Given the description of an element on the screen output the (x, y) to click on. 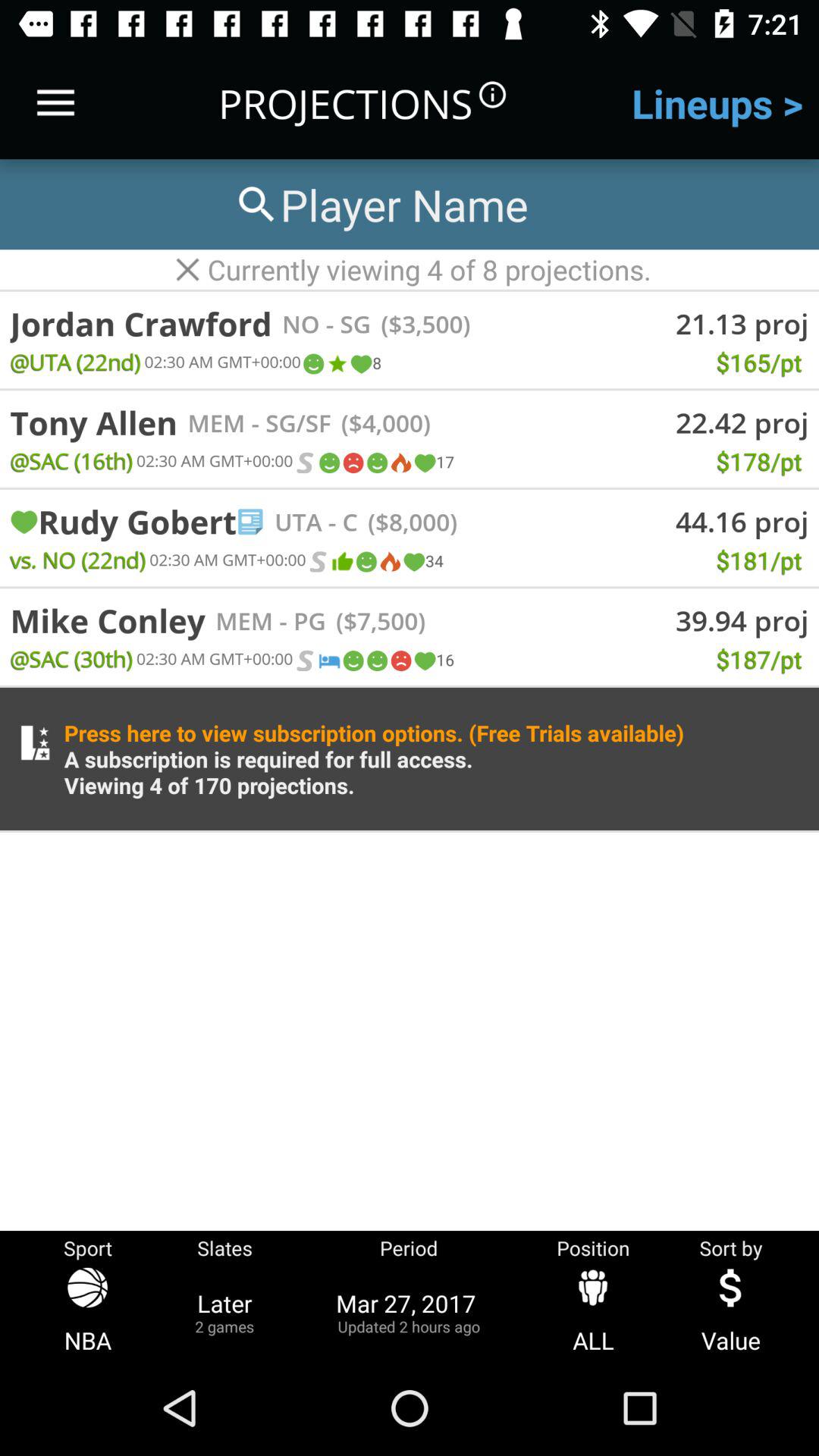
turn on icon next to the 02 30 am item (312, 363)
